Given the description of an element on the screen output the (x, y) to click on. 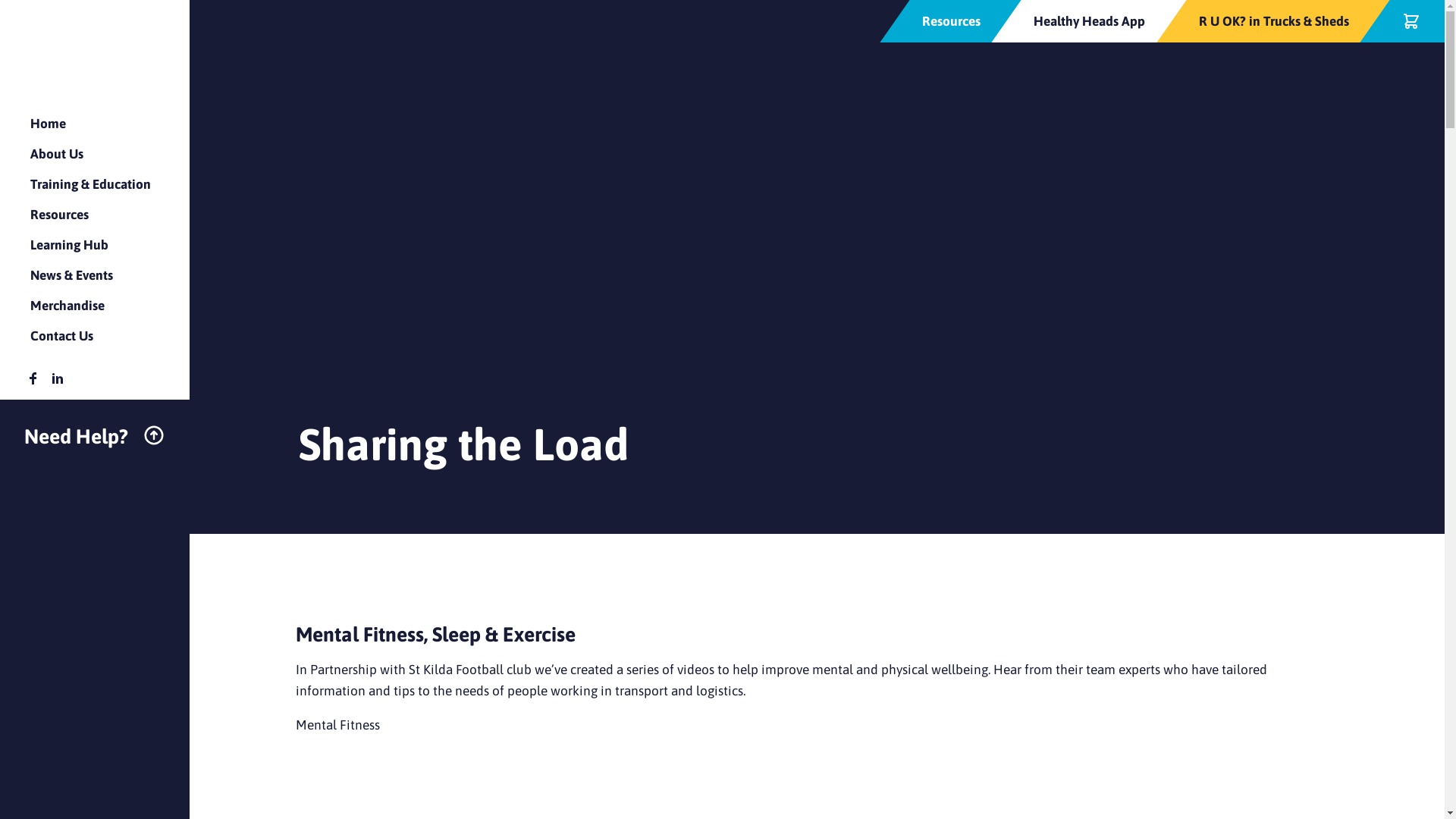
R U OK? in Trucks & Sheds Element type: text (1273, 21)
HealthyHeads Facebook Element type: hover (33, 378)
Home Element type: text (48, 123)
HealthyHeads Linkedin Element type: hover (57, 378)
About Us Element type: text (56, 153)
Checkout Element type: hover (1411, 21)
Resources Element type: text (59, 214)
Resources Element type: text (951, 21)
Merchandise Element type: text (67, 305)
Learning Hub Element type: text (69, 244)
Training & Education Element type: text (90, 184)
News & Events Element type: text (71, 275)
Healthy Heads App Element type: text (1089, 21)
Contact Us Element type: text (61, 335)
